Given the description of an element on the screen output the (x, y) to click on. 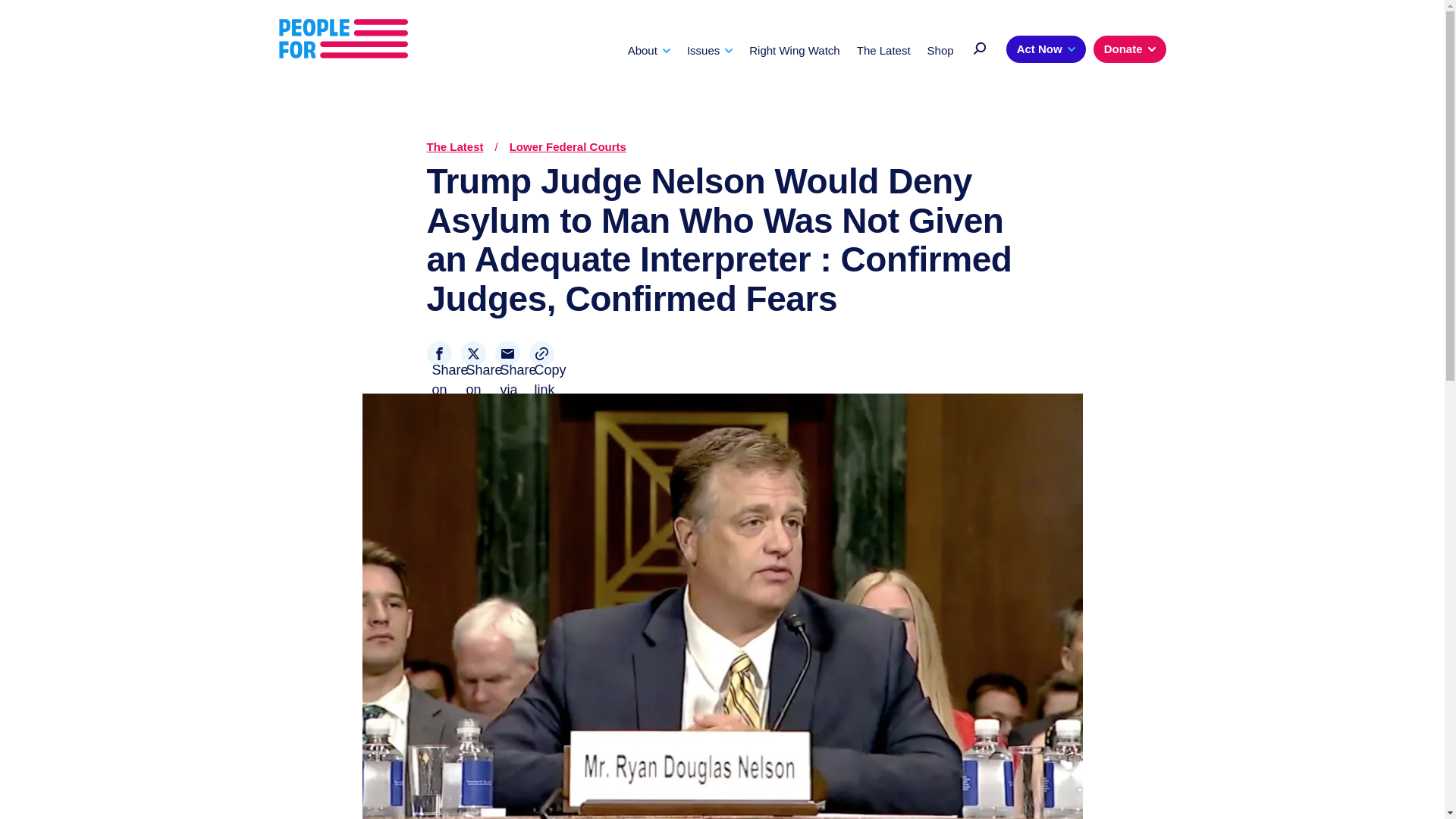
Act Now (1046, 49)
Share to Facebook (438, 353)
Right Wing Watch (794, 50)
Issues (709, 50)
The Latest (884, 50)
Shop (940, 50)
Share to Email (507, 353)
Share to X (473, 353)
Home (343, 38)
Donate (1129, 49)
